Given the description of an element on the screen output the (x, y) to click on. 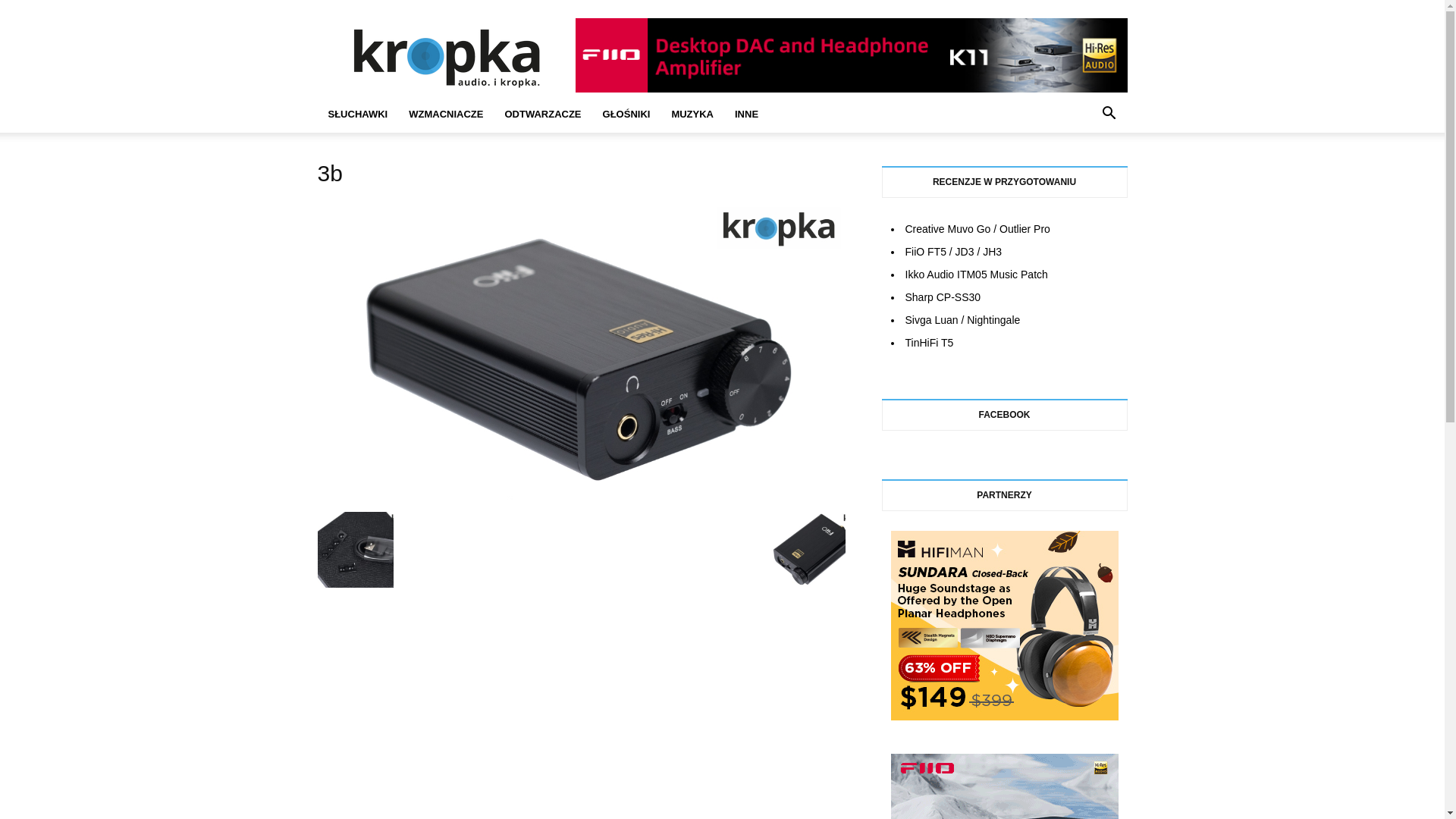
ODTWARZACZE Element type: text (542, 114)
3b Element type: hover (580, 495)
INNE Element type: text (746, 114)
kropka.audio Element type: hover (445, 55)
MUZYKA Element type: text (692, 114)
WZMACNIACZE Element type: text (445, 114)
Szukaj Element type: text (1085, 175)
